Given the description of an element on the screen output the (x, y) to click on. 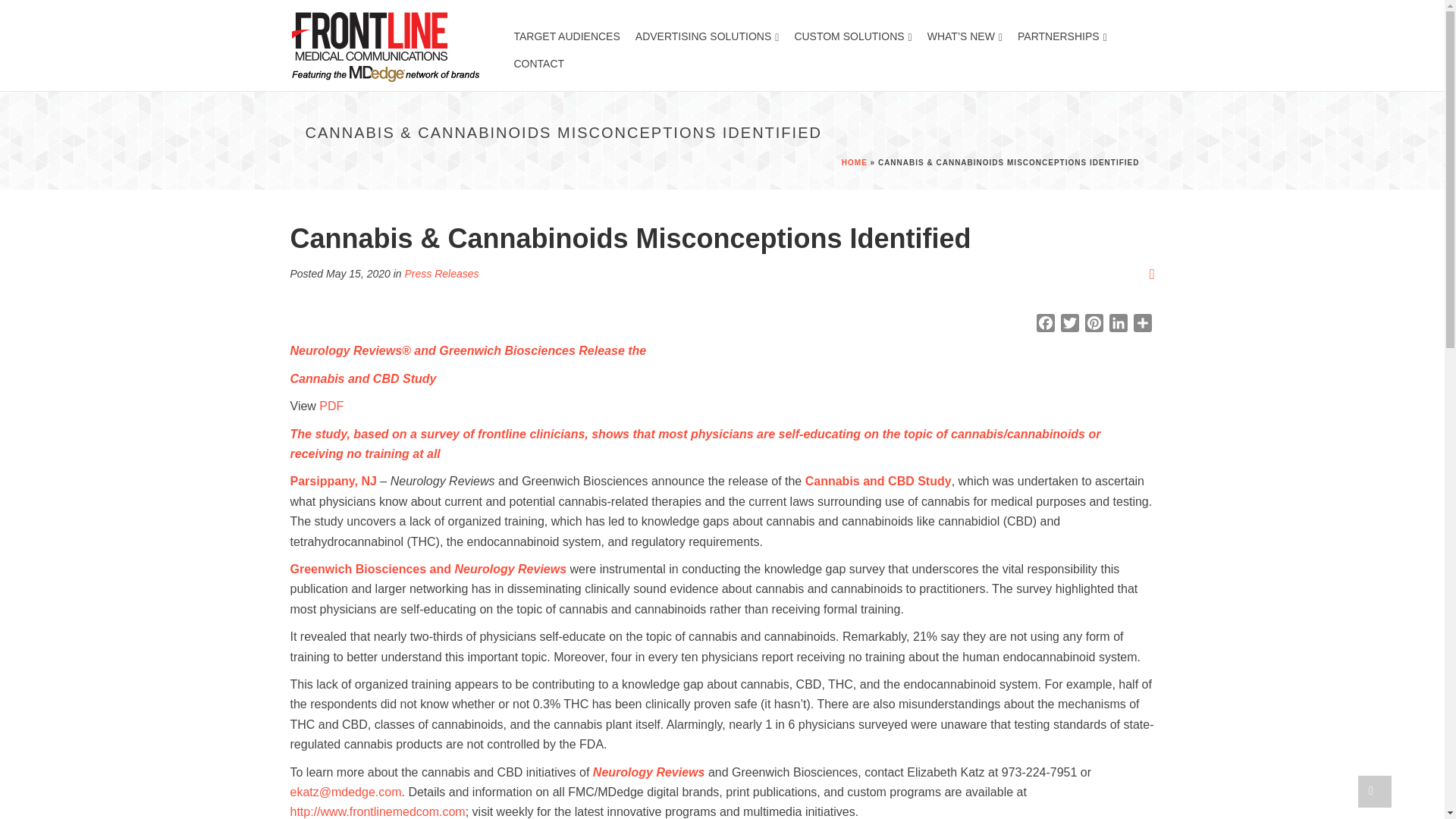
LinkedIn (1117, 325)
Pinterest (1093, 325)
TARGET AUDIENCES (566, 31)
Twitter (1069, 325)
ADVERTISING SOLUTIONS (707, 31)
CUSTOM SOLUTIONS (852, 31)
Print (1152, 273)
Facebook (1044, 325)
